Given the description of an element on the screen output the (x, y) to click on. 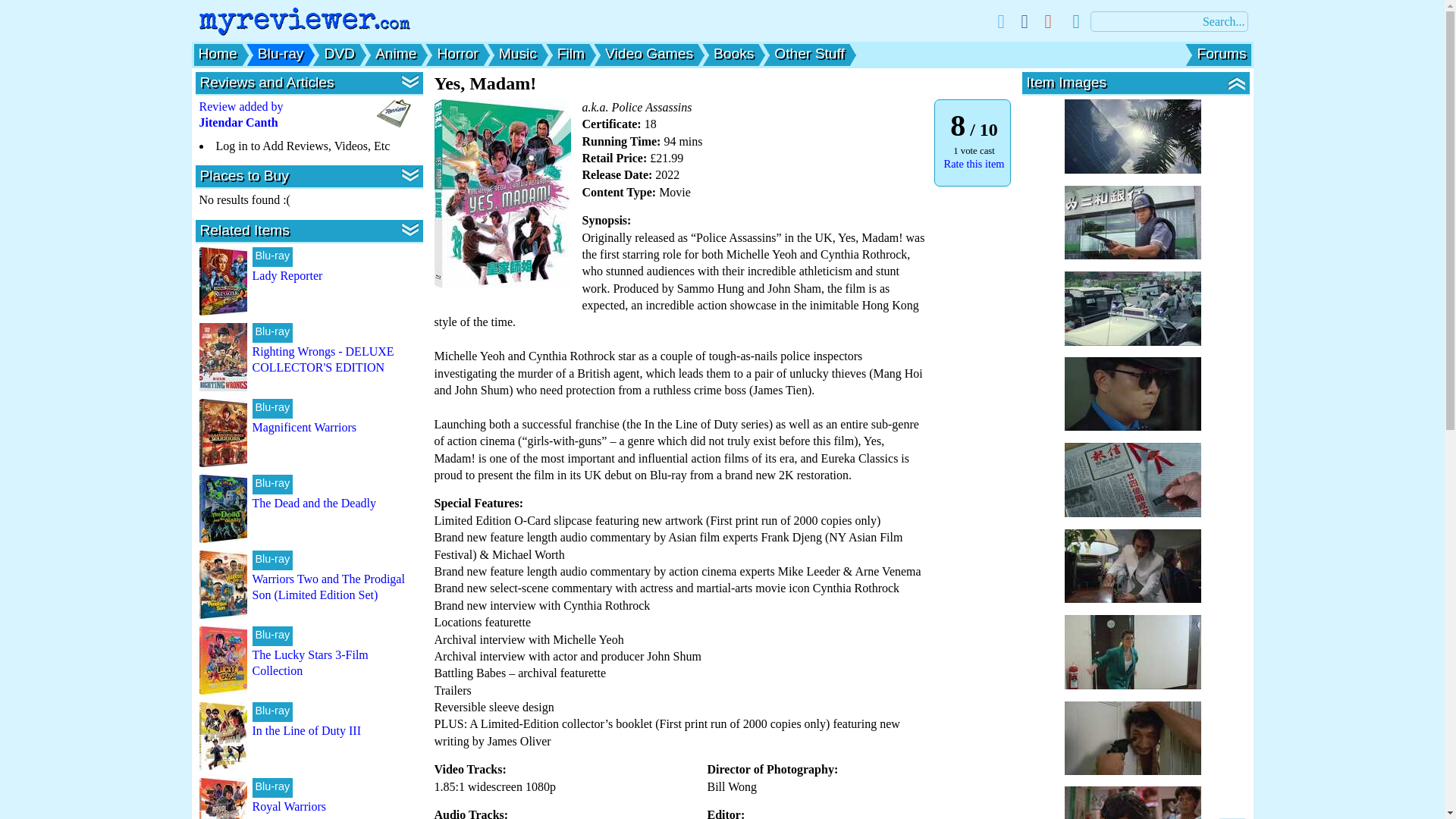
Share on Twitter (1000, 21)
Lady Reporter (286, 275)
Books (733, 53)
Righting Wrongs - DELUXE COLLECTOR'S EDITION (322, 358)
Music (518, 53)
change your preferences (1075, 21)
The Dead and the Deadly (313, 502)
Royal Warriors (288, 806)
Horror (456, 53)
Share on Facebook (1024, 21)
Anime (395, 53)
Search... (1168, 21)
Magnificent Warriors (303, 427)
In the Line of Duty III (306, 730)
Forums (1221, 53)
